Given the description of an element on the screen output the (x, y) to click on. 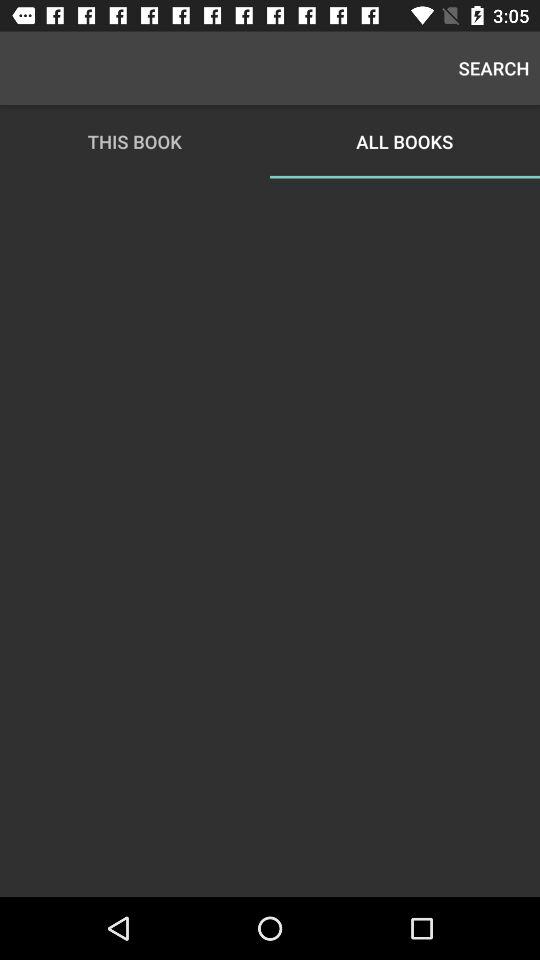
launch the icon above all books icon (494, 67)
